Given the description of an element on the screen output the (x, y) to click on. 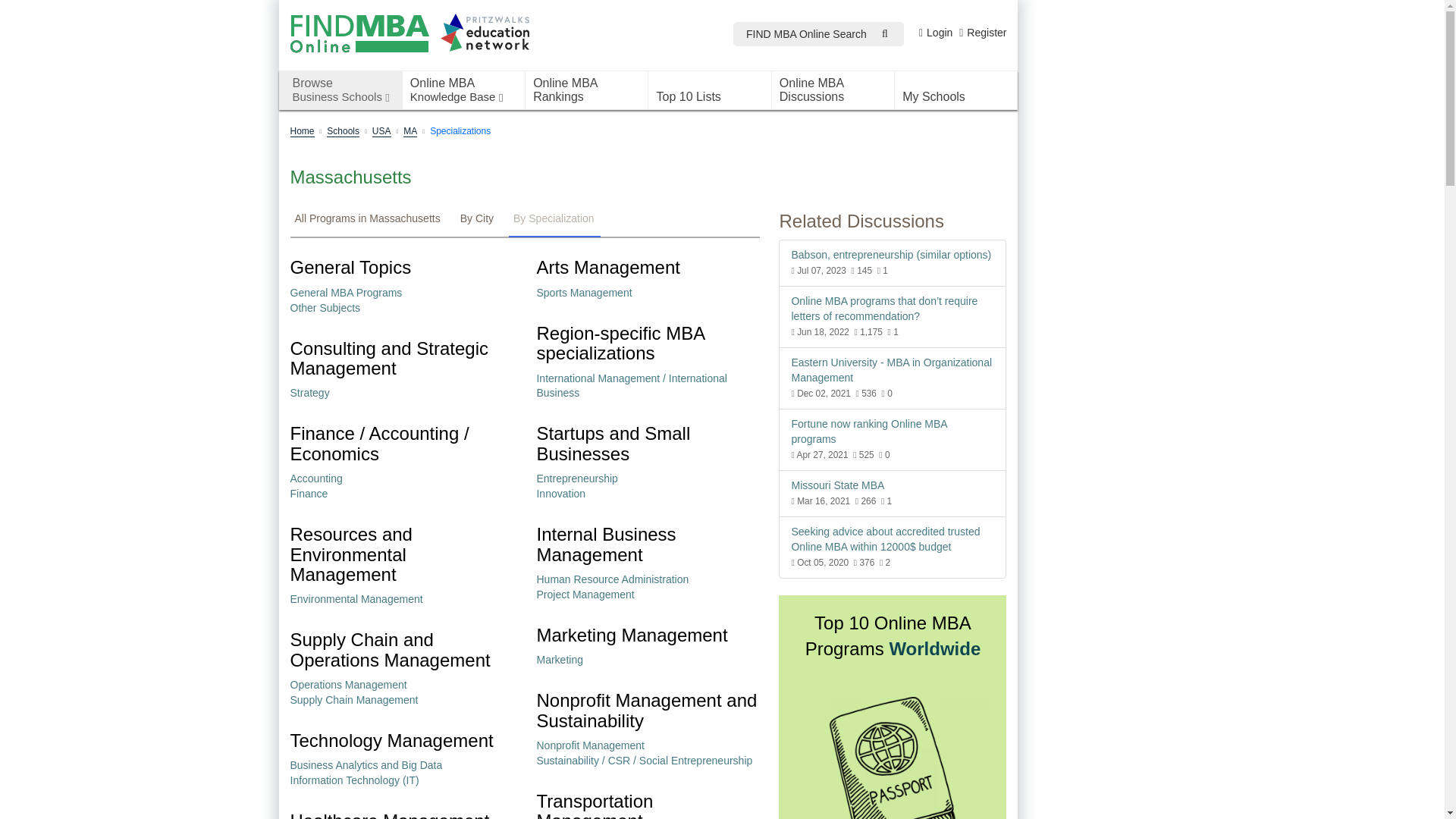
Login (340, 89)
Register (463, 89)
